Given the description of an element on the screen output the (x, y) to click on. 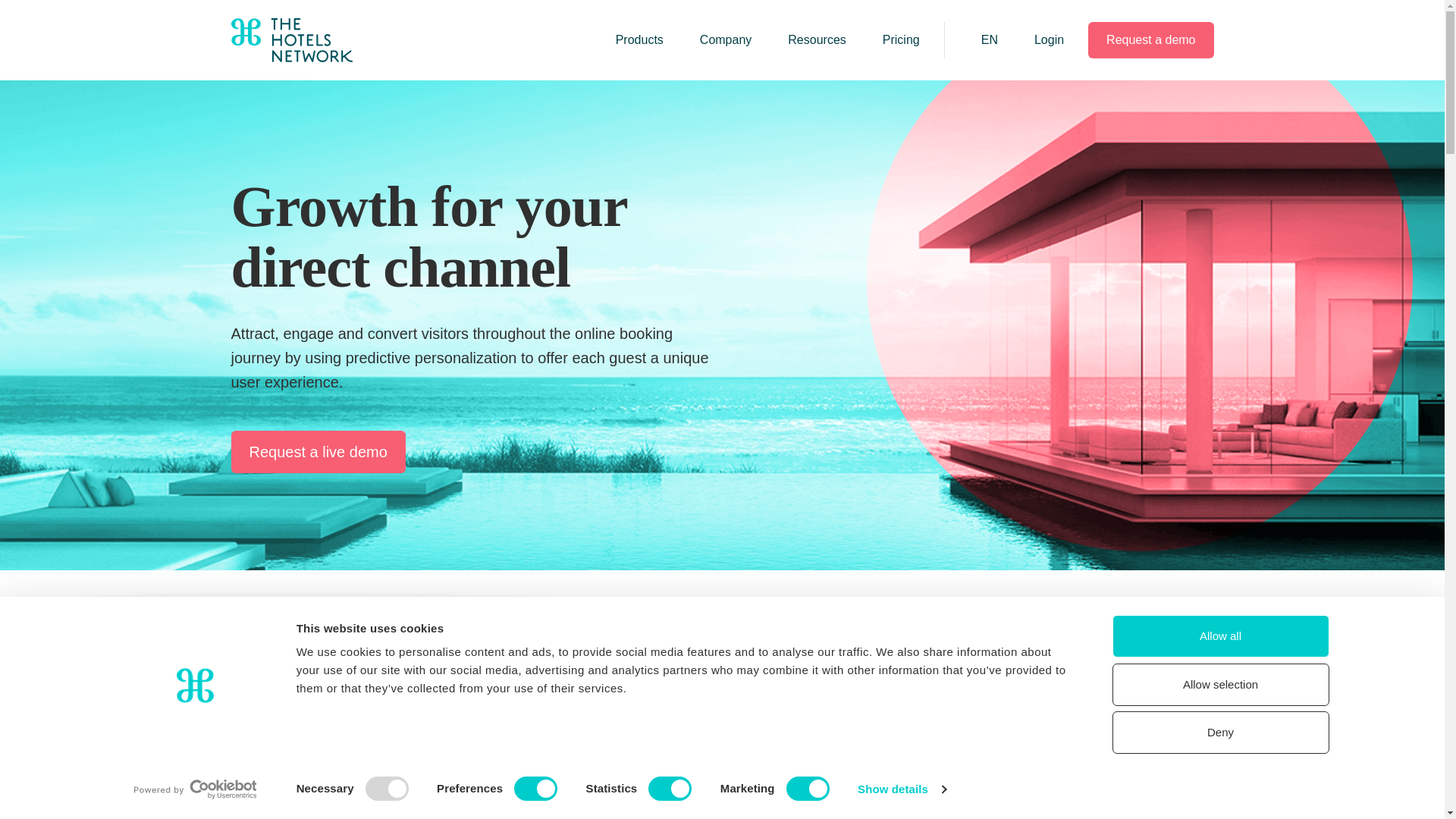
0 (806, 731)
Show details (900, 789)
0 (466, 731)
0 (636, 731)
0 (1146, 731)
0 (296, 731)
0 (976, 731)
